Given the description of an element on the screen output the (x, y) to click on. 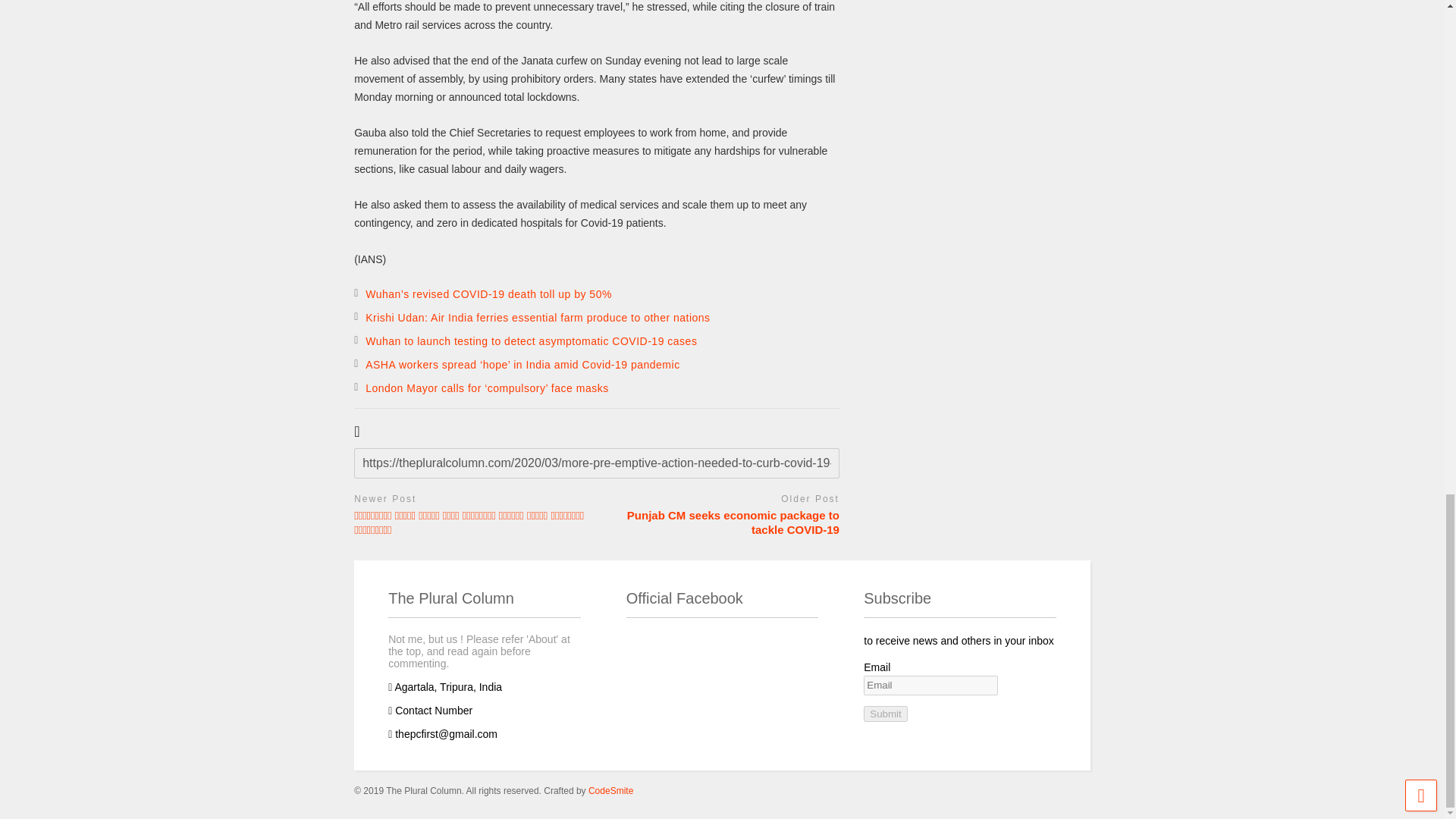
Submit (885, 713)
